Given the description of an element on the screen output the (x, y) to click on. 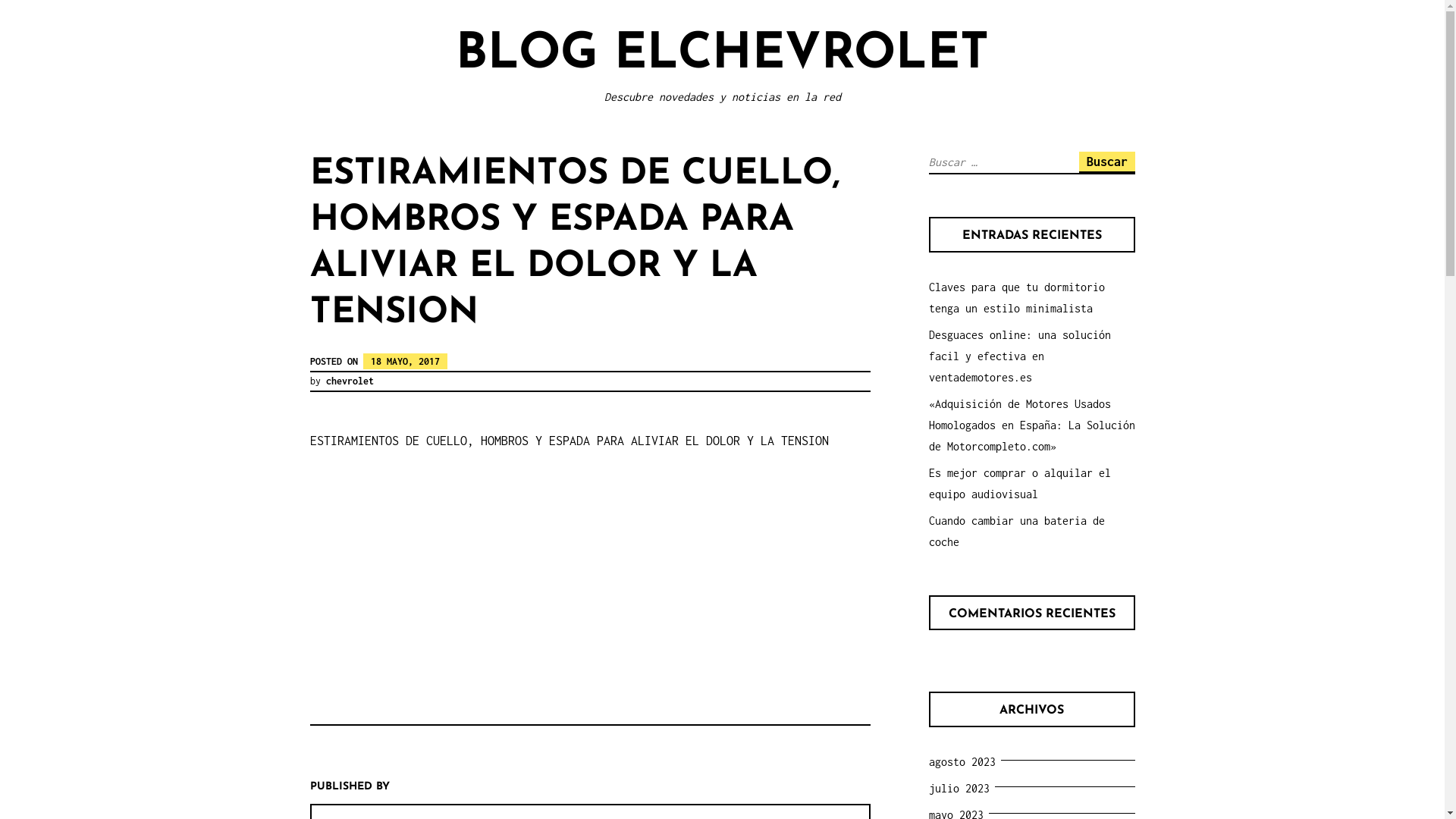
18 MAYO, 2017 Element type: text (404, 361)
julio 2023 Element type: text (961, 787)
Es mejor comprar o alquilar el equipo audiovisual Element type: text (1019, 483)
BLOG ELCHEVROLET Element type: text (721, 54)
chevrolet Element type: text (349, 380)
agosto 2023 Element type: text (964, 761)
Claves para que tu dormitorio tenga un estilo minimalista Element type: text (1016, 297)
Cuando cambiar una bateria de coche Element type: text (1016, 531)
Skip to content Element type: text (0, 0)
Buscar Element type: text (1106, 161)
